Given the description of an element on the screen output the (x, y) to click on. 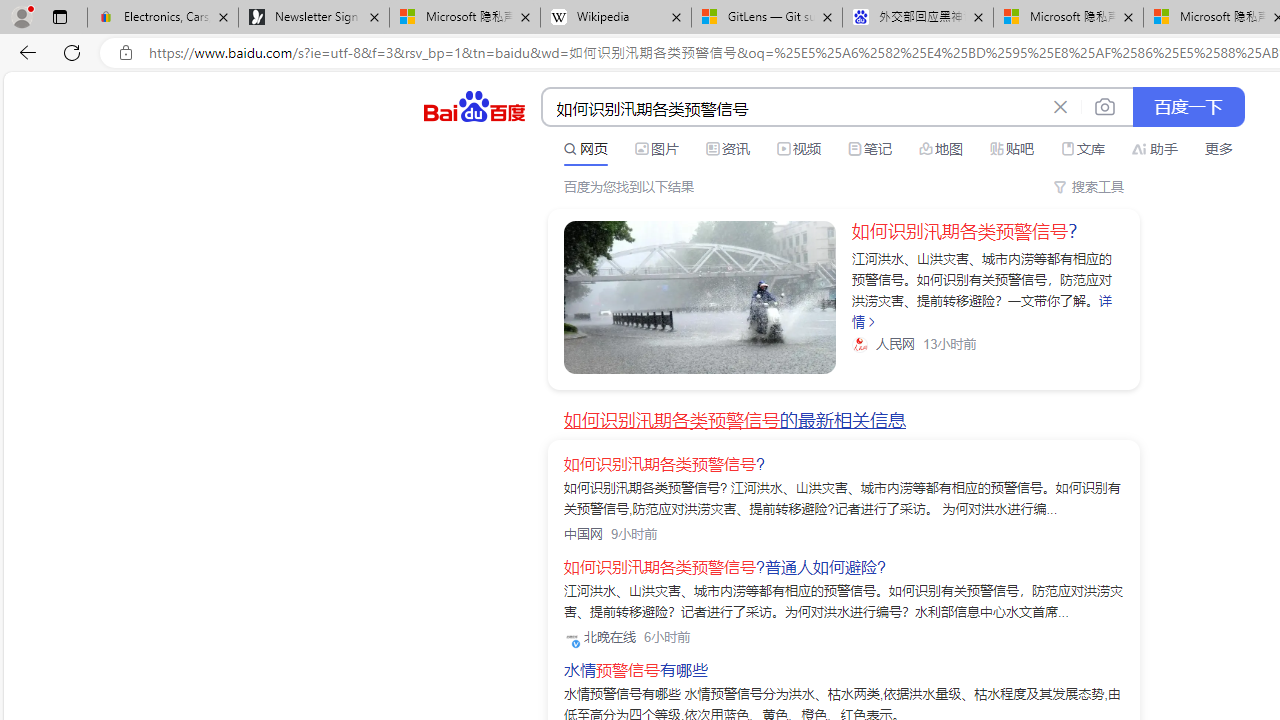
Class: sc-link _link_kwqvb_2 -v-color-primary block (699, 297)
Newsletter Sign Up (314, 17)
